Given the description of an element on the screen output the (x, y) to click on. 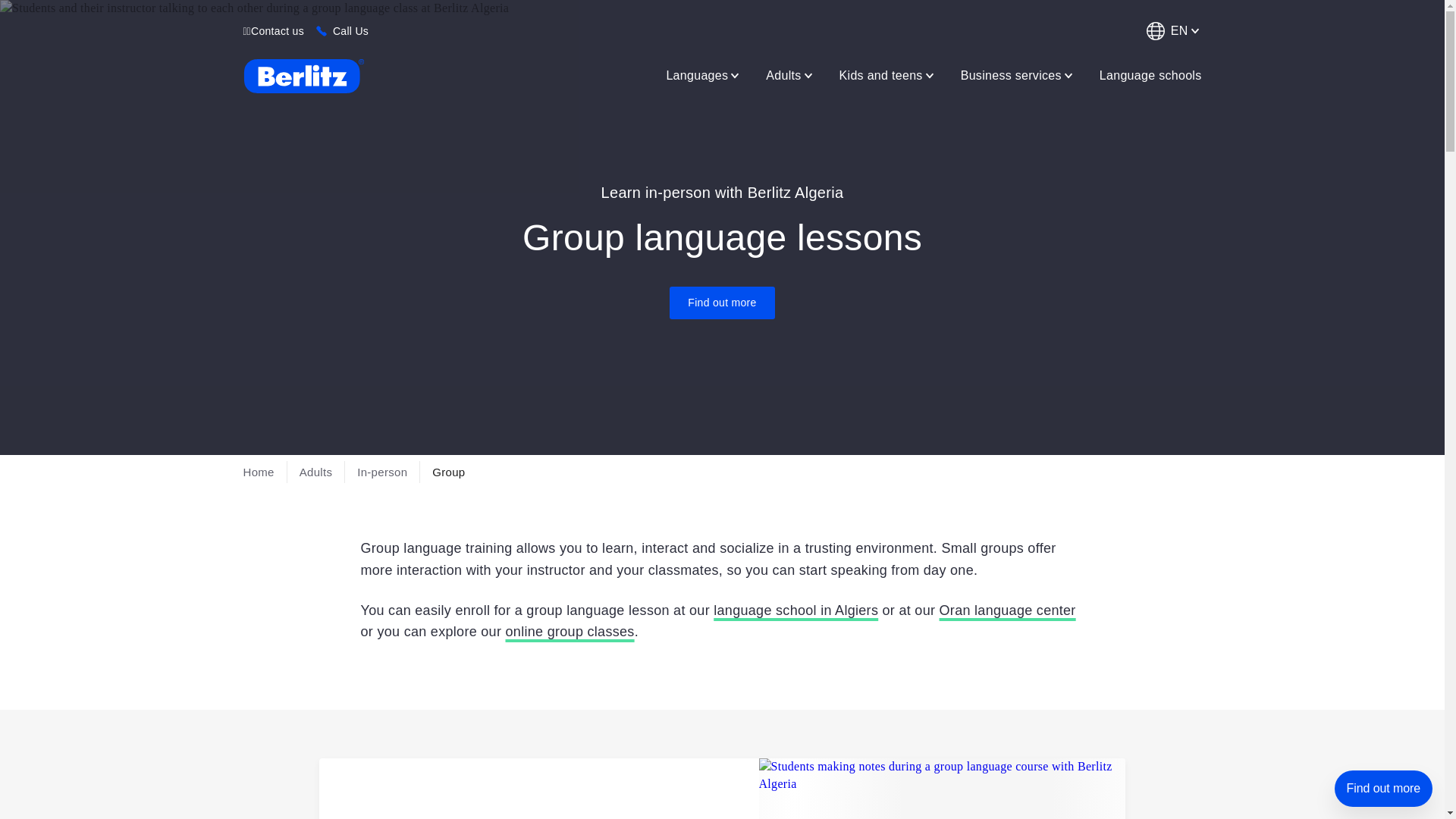
EN (1171, 30)
Kids and teens (887, 75)
Call Us (350, 30)
Business services (1018, 75)
Berlitz (303, 75)
Languages (703, 75)
Berlitz Algeria (302, 76)
Adults (790, 75)
